Given the description of an element on the screen output the (x, y) to click on. 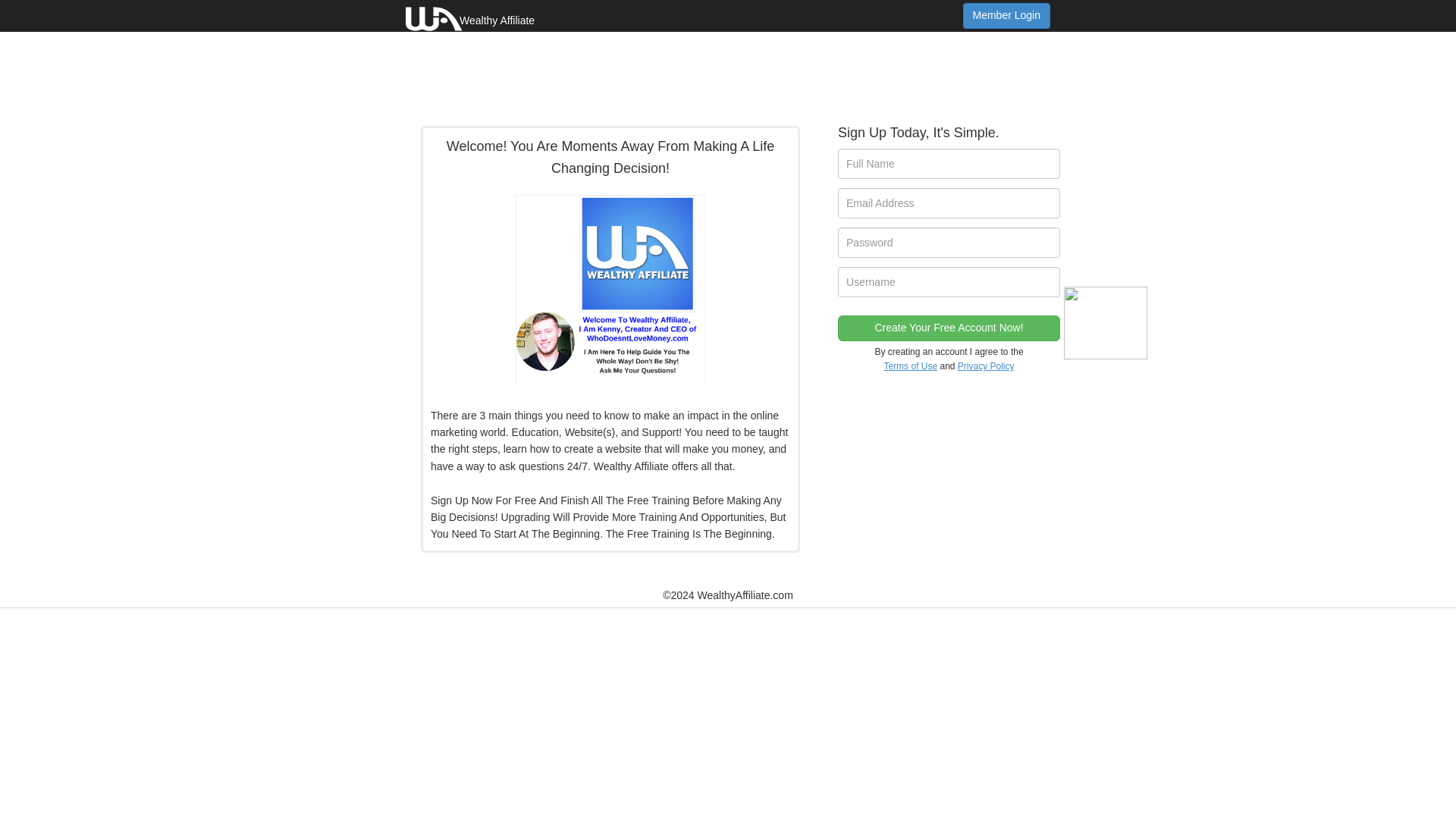
Wealthy Affiliate (470, 15)
Terms of Use (910, 366)
Create Your Free Account Now! (948, 328)
Privacy Policy (986, 366)
Member Login (1006, 15)
